Given the description of an element on the screen output the (x, y) to click on. 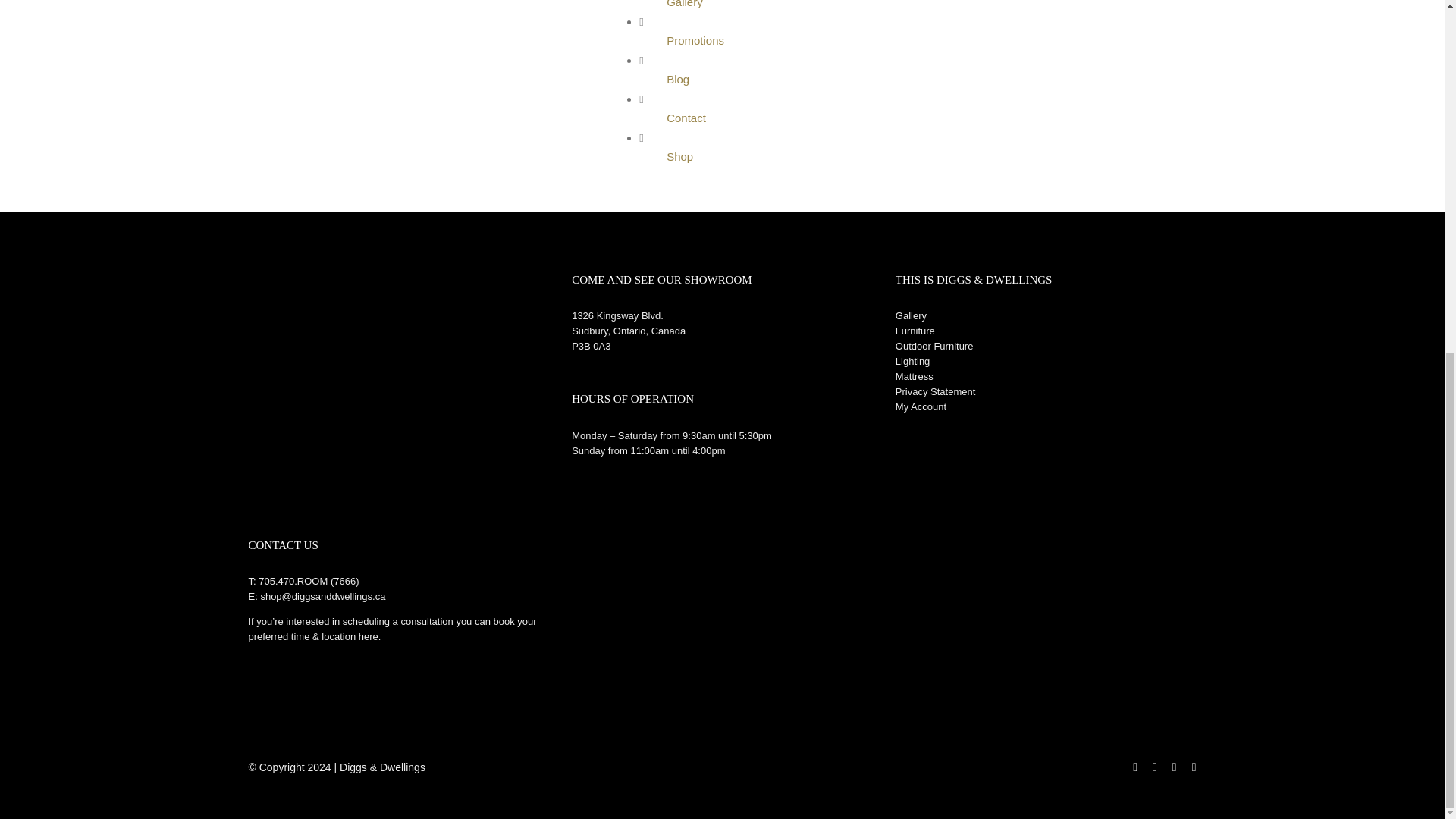
Contact (686, 117)
Gallery (684, 4)
Gallery (910, 315)
here. (369, 636)
Blog (677, 78)
Furniture (914, 330)
Outdoor Furniture (934, 346)
Promotions (694, 40)
Shop (679, 155)
